Given the description of an element on the screen output the (x, y) to click on. 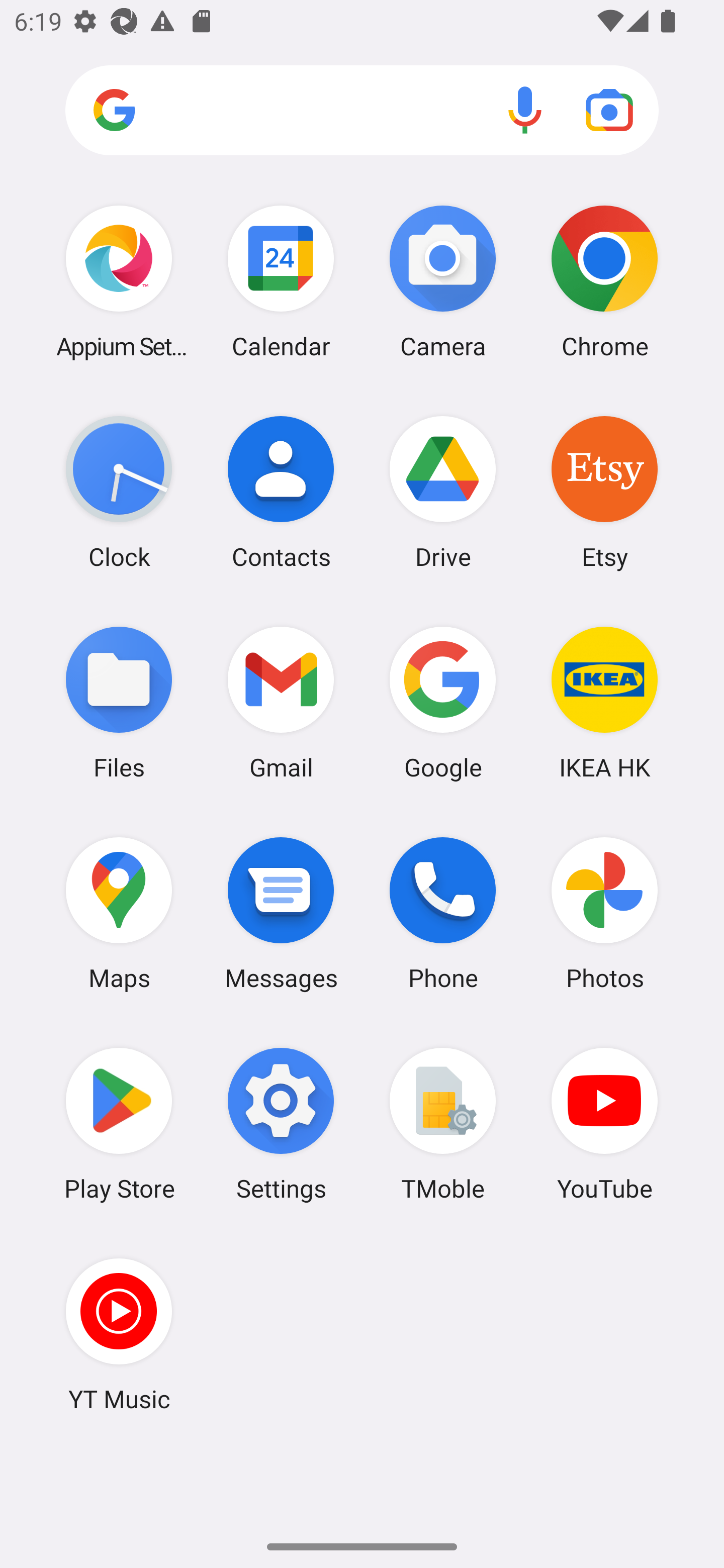
Search apps, web and more (361, 110)
Voice search (524, 109)
Google Lens (608, 109)
Appium Settings (118, 281)
Calendar (280, 281)
Camera (443, 281)
Chrome (604, 281)
Clock (118, 492)
Contacts (280, 492)
Drive (443, 492)
Etsy (604, 492)
Files (118, 702)
Gmail (280, 702)
Google (443, 702)
IKEA HK (604, 702)
Maps (118, 913)
Messages (280, 913)
Phone (443, 913)
Photos (604, 913)
Play Store (118, 1124)
Settings (280, 1124)
TMoble (443, 1124)
YouTube (604, 1124)
YT Music (118, 1334)
